Given the description of an element on the screen output the (x, y) to click on. 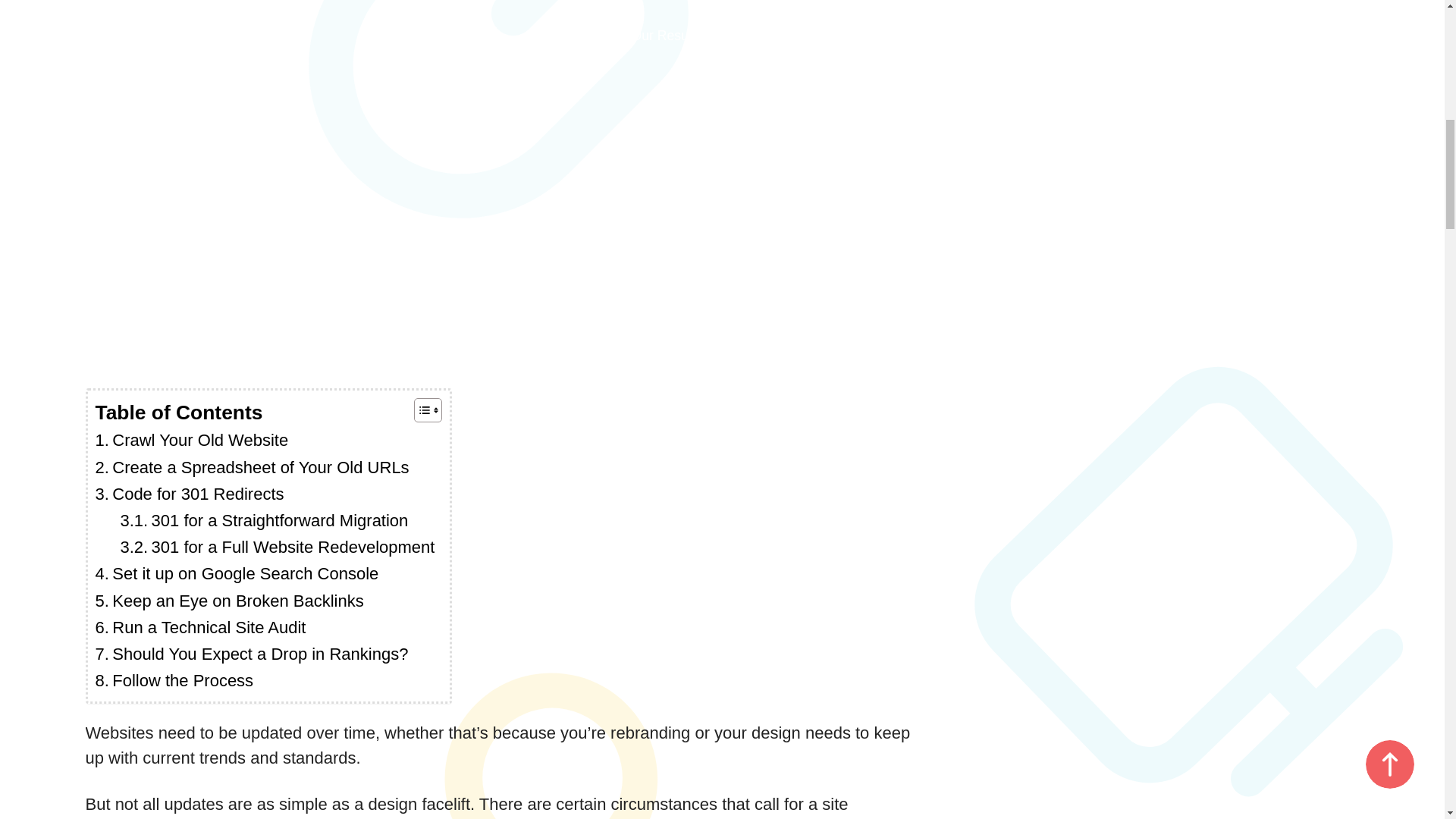
301 for a Straightforward Migration (263, 519)
Keep an Eye on Broken Backlinks (230, 601)
Crawl Your Old Website (192, 439)
Should You Expect a Drop in Rankings? (252, 653)
Should You Expect a Drop in Rankings? (252, 653)
Code for 301 Redirects (189, 493)
Set it up on Google Search Console (237, 573)
301 for a Full Website Redevelopment (276, 546)
Code for 301 Redirects (189, 493)
